Given the description of an element on the screen output the (x, y) to click on. 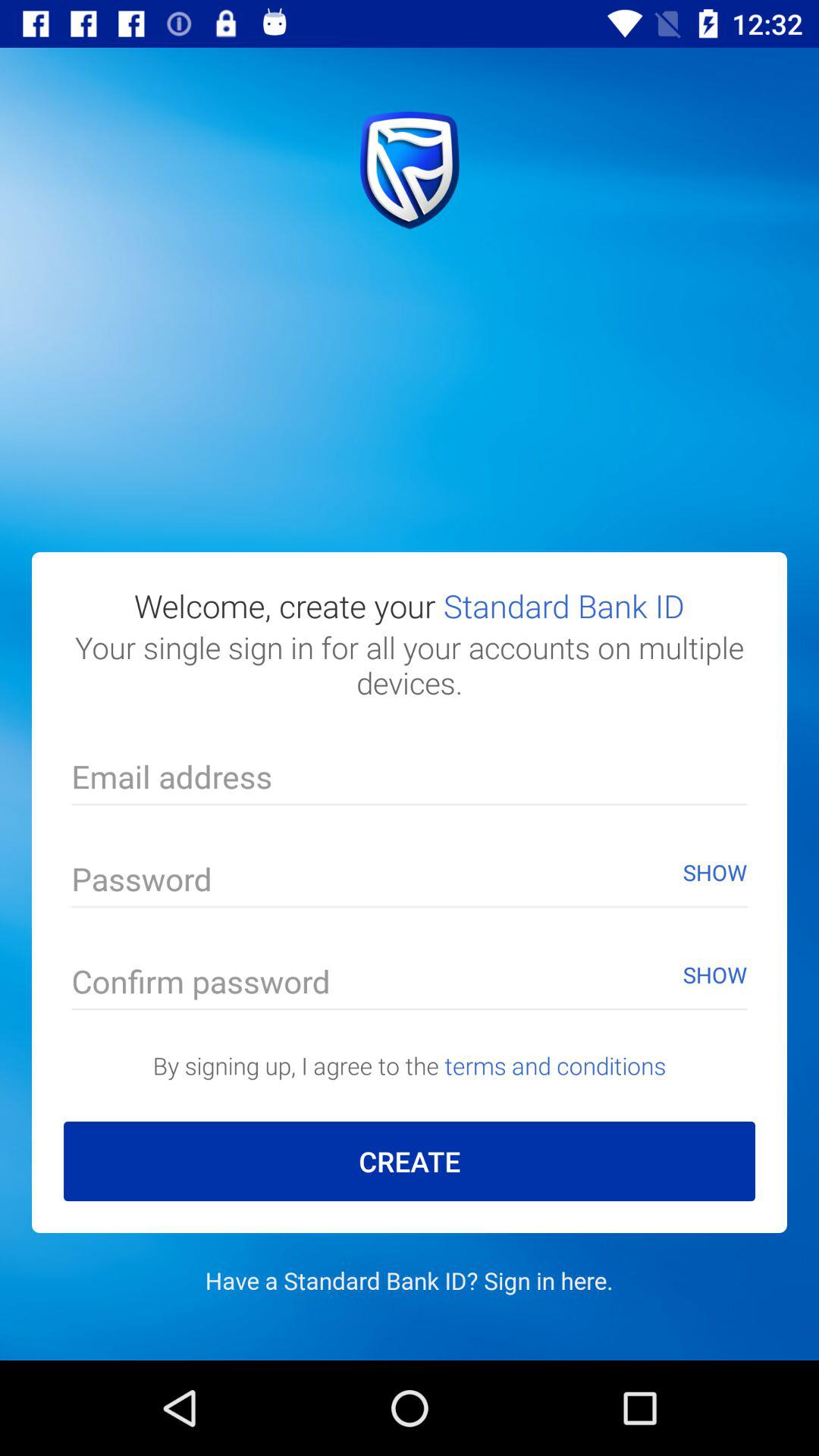
password (409, 882)
